Given the description of an element on the screen output the (x, y) to click on. 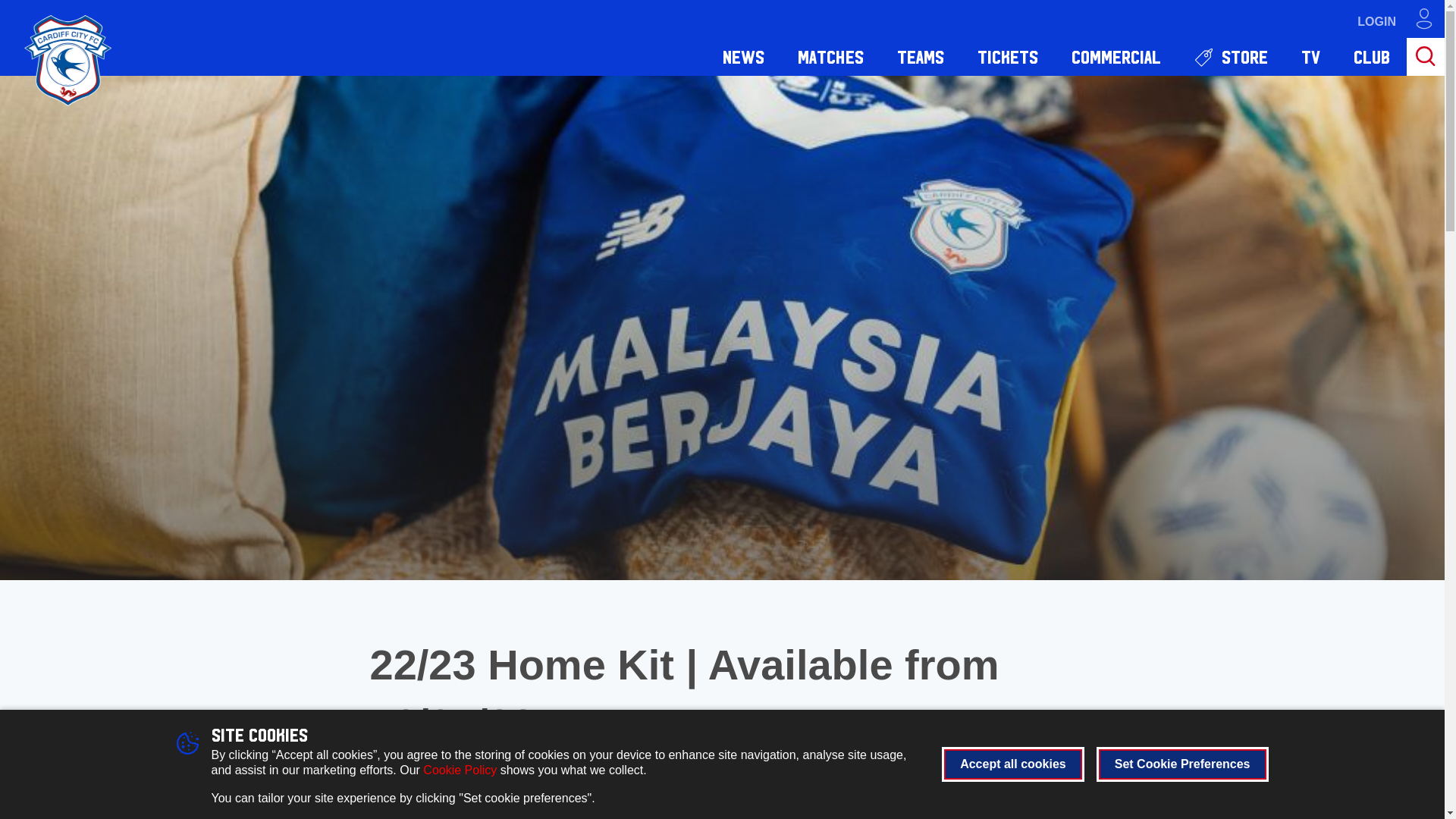
TEAMS (920, 56)
STORE (1230, 56)
COMMERCIAL (1115, 56)
3rd party ad content (1167, 816)
MATCHES (830, 56)
NEWS (743, 56)
TICKETS (1007, 56)
